Given the description of an element on the screen output the (x, y) to click on. 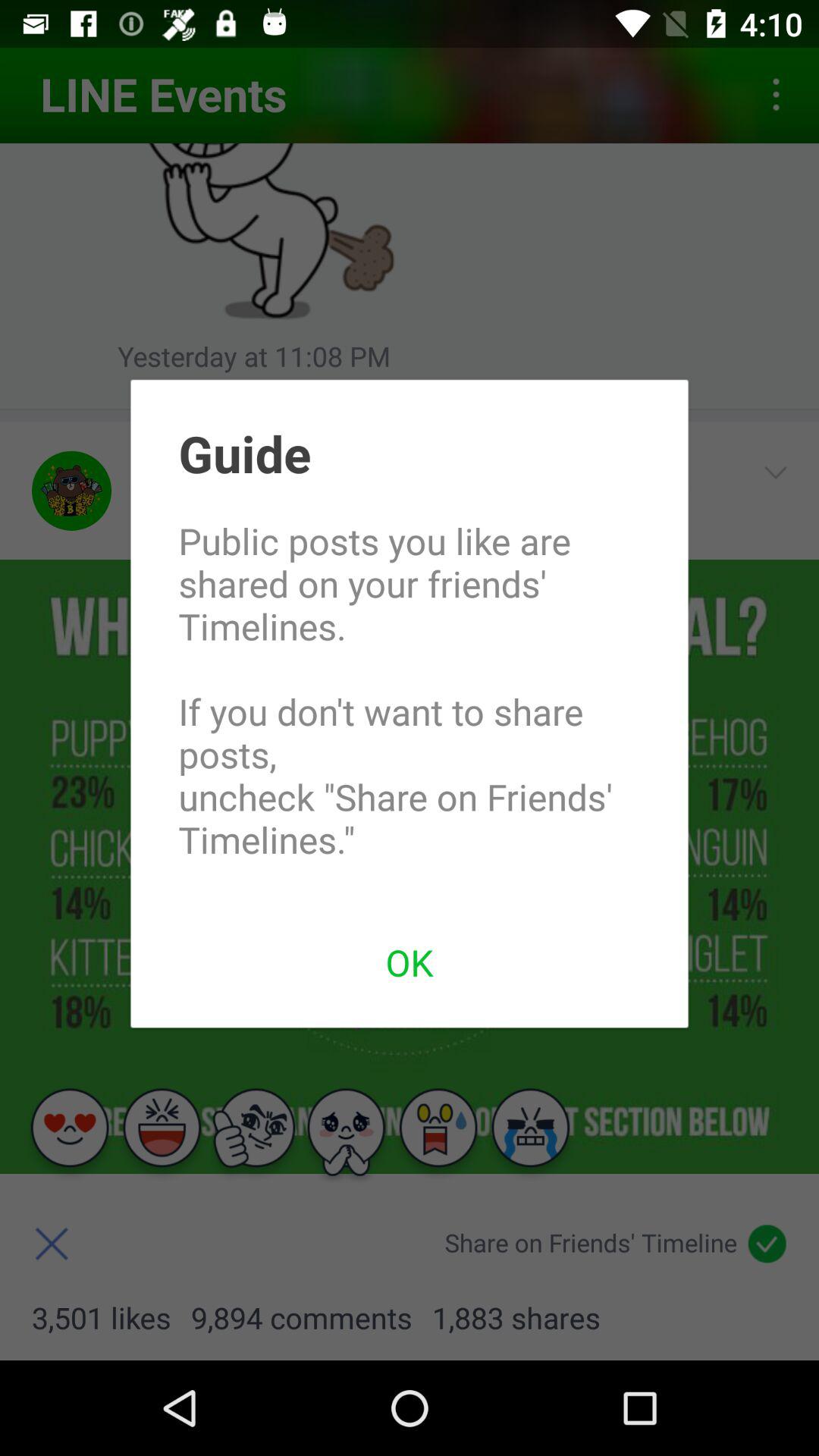
open the ok button (409, 962)
